Given the description of an element on the screen output the (x, y) to click on. 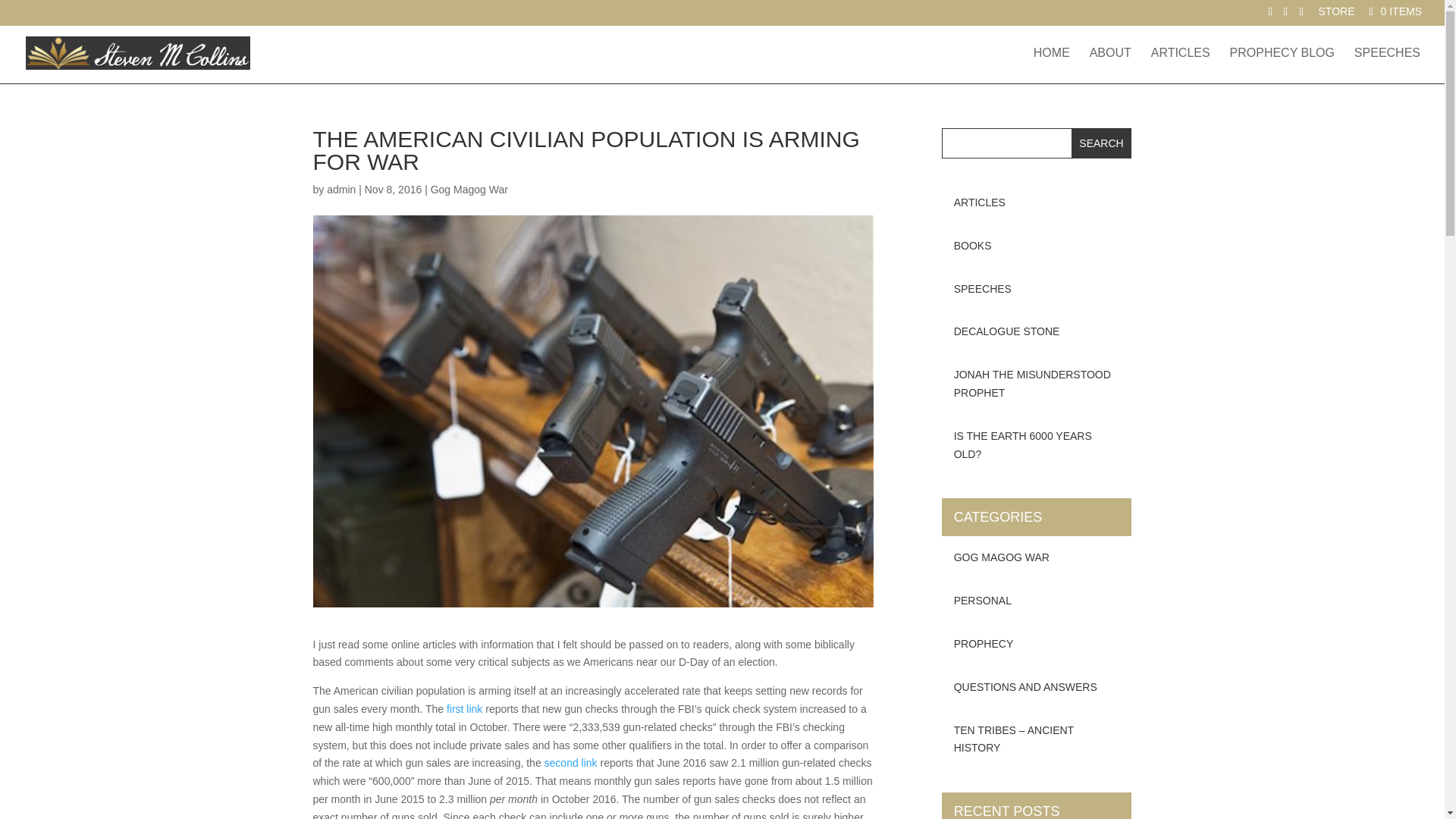
ARTICLES (1037, 202)
ABOUT (1110, 65)
JONAH THE MISUNDERSTOOD PROPHET (1037, 383)
Gog Magog War (469, 189)
first link (463, 708)
second link (570, 762)
SPEECHES (1037, 289)
ARTICLES (1180, 65)
DECALOGUE STONE (1037, 331)
admin (340, 189)
IS THE EARTH 6000 YEARS OLD? (1037, 445)
Search (1101, 142)
BOOKS (1037, 246)
Search (1101, 142)
0 ITEMS (1394, 10)
